Given the description of an element on the screen output the (x, y) to click on. 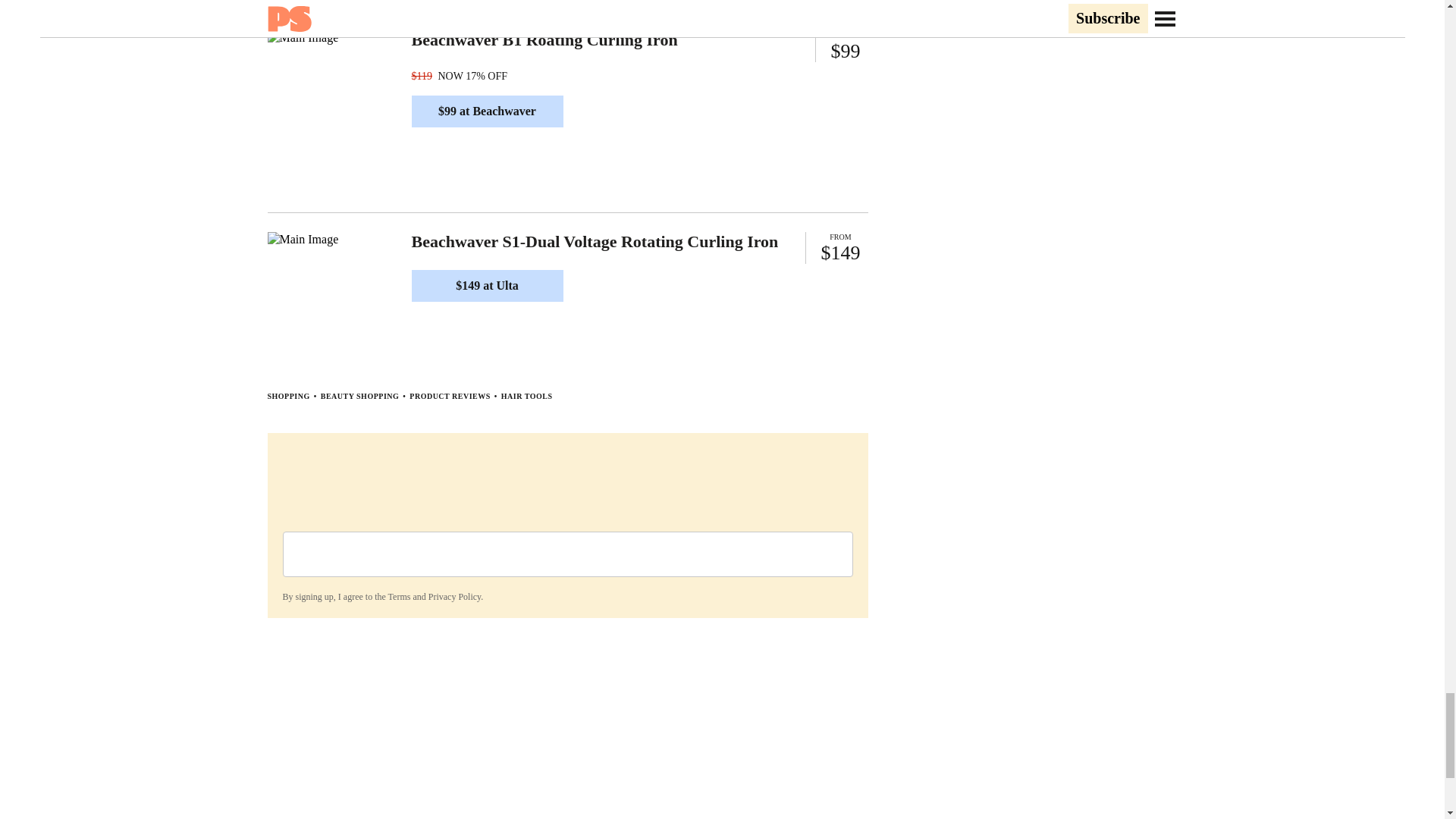
Privacy Policy. (455, 596)
Terms (399, 596)
PRODUCT REVIEWS (449, 396)
SHOPPING (287, 396)
HAIR TOOLS (526, 396)
BEAUTY SHOPPING (359, 396)
